Given the description of an element on the screen output the (x, y) to click on. 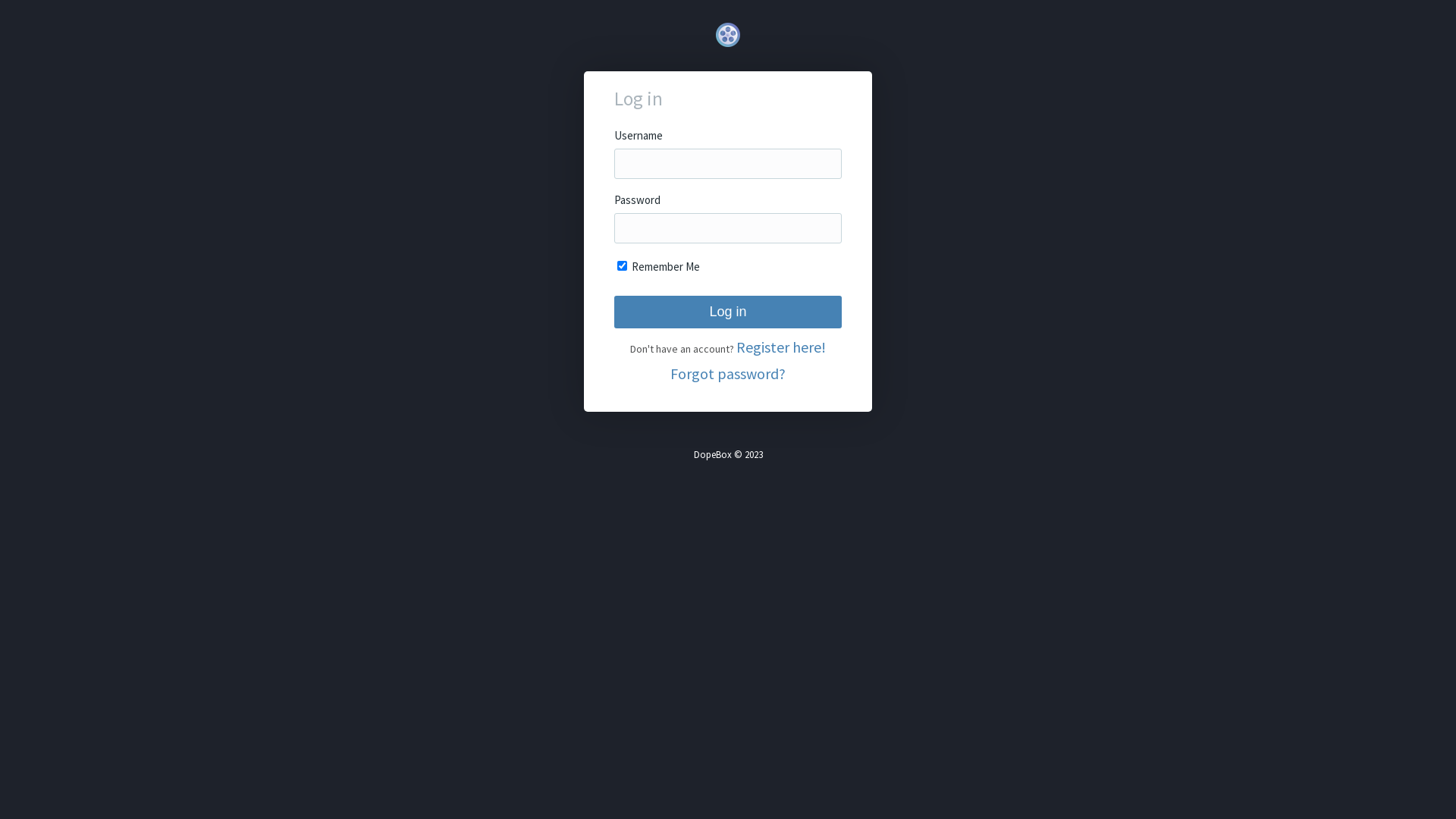
Log in Element type: text (727, 311)
Forgot password? Element type: text (727, 373)
Register here! Element type: text (780, 346)
